Given the description of an element on the screen output the (x, y) to click on. 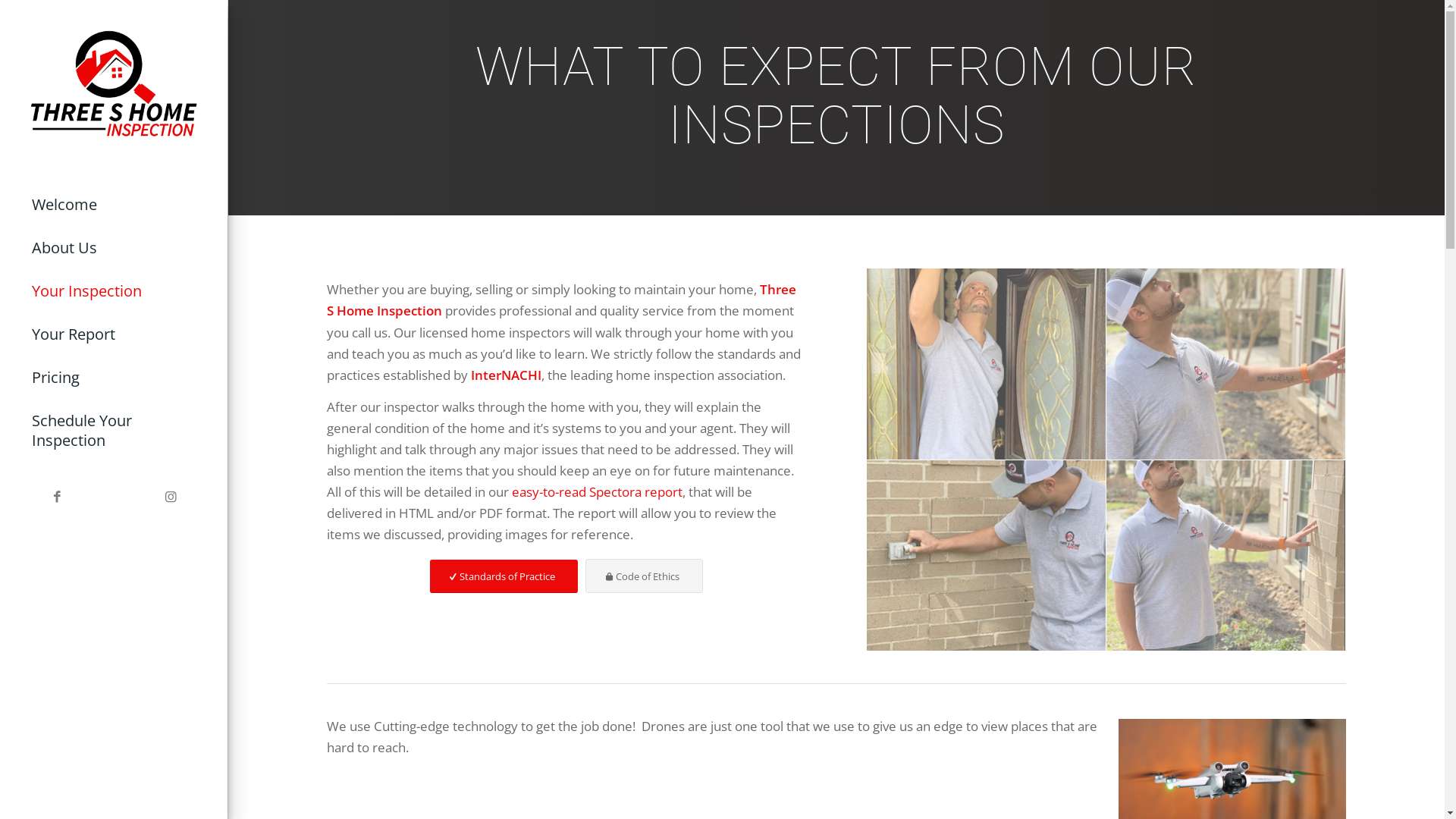
Schedule Your Inspection Element type: text (113, 430)
Standards of Practice Element type: text (503, 576)
Your Inspection Element type: text (113, 291)
Facebook Element type: hover (56, 496)
Welcome Element type: text (113, 204)
easy-to-read Spectora report Element type: text (596, 491)
Code of Ethics Element type: text (643, 575)
About Us Element type: text (113, 247)
Your Report Element type: text (113, 334)
Pricing Element type: text (113, 377)
Instagram Element type: hover (170, 496)
